Given the description of an element on the screen output the (x, y) to click on. 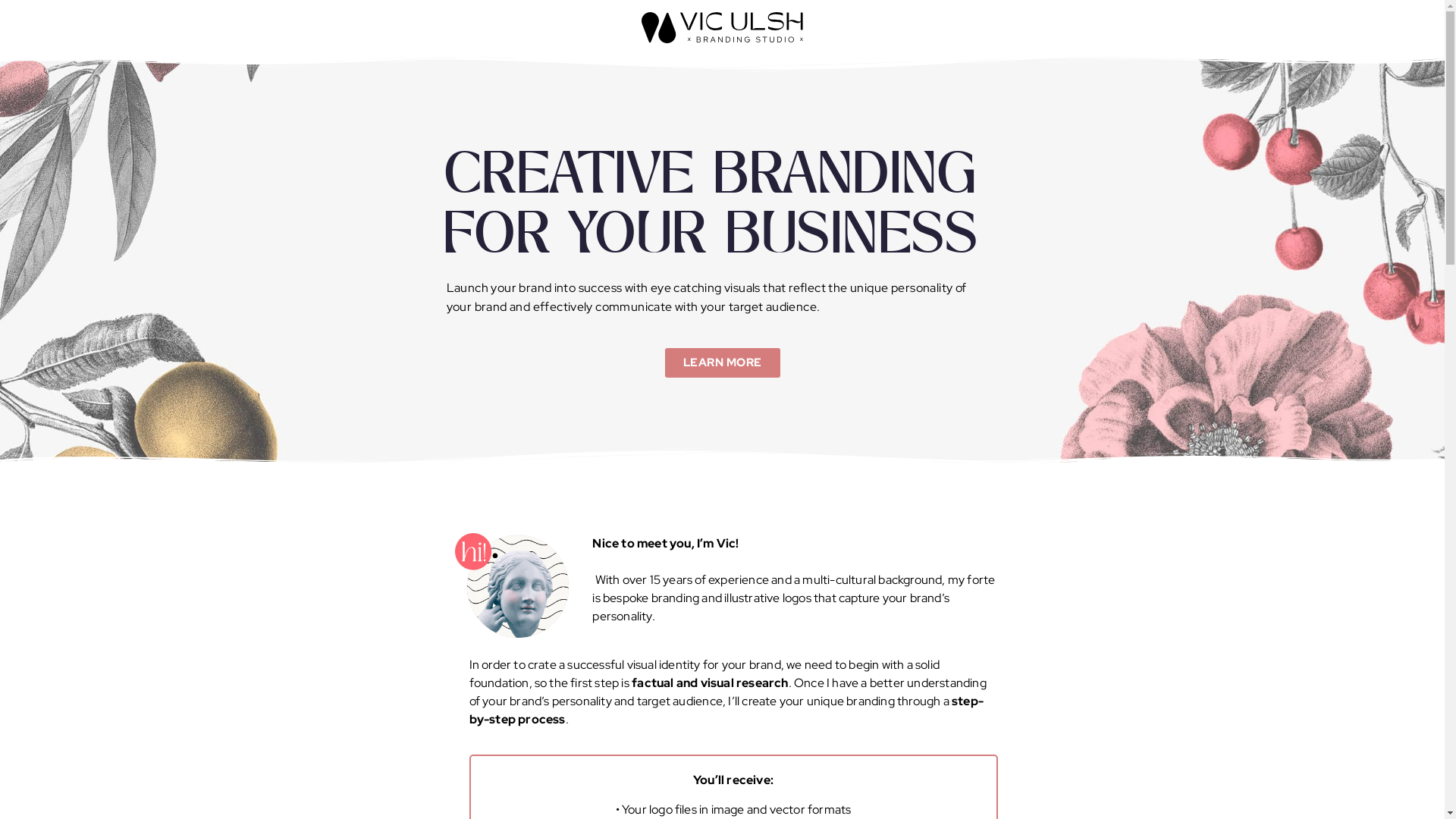
LEARN MORE Element type: text (721, 362)
